Given the description of an element on the screen output the (x, y) to click on. 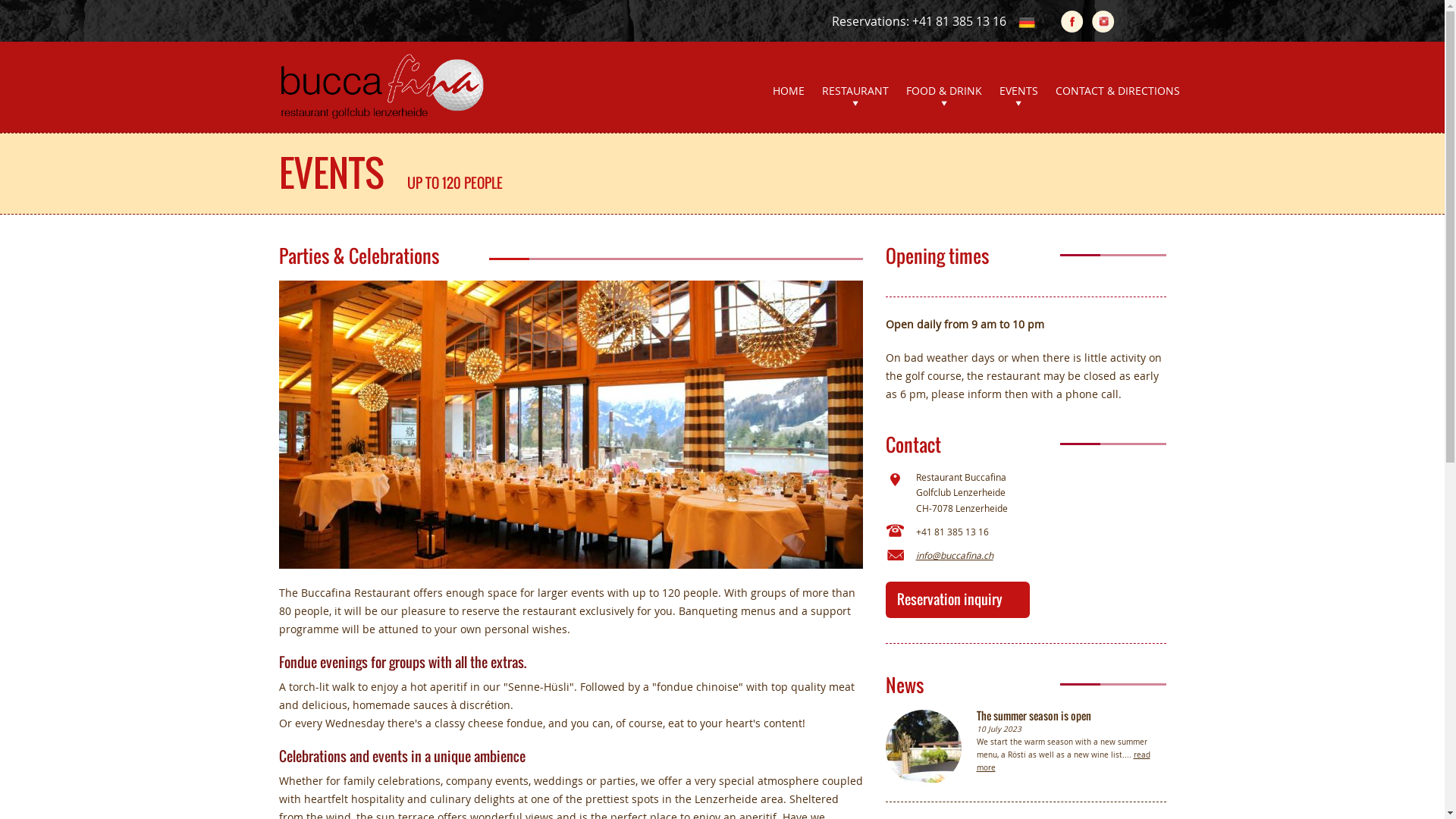
Bucca Fina Element type: hover (381, 86)
The summer season is open Element type: hover (930, 747)
CONTACT & DIRECTIONS Element type: text (1117, 98)
RESTAURANT Element type: text (855, 98)
Phone Element type: hover (894, 532)
read more Element type: text (1063, 760)
info@buccafina.ch Element type: text (1025, 554)
Deutsch Element type: hover (1026, 22)
Deutsch Element type: hover (1026, 20)
Address Element type: hover (894, 484)
HOME Element type: text (787, 98)
FOOD & DRINK Element type: text (943, 98)
Email Element type: hover (894, 556)
EVENTS Element type: text (1018, 98)
Reservation inquiry Element type: text (948, 598)
The summer season is open Element type: text (1033, 715)
Restaurant BuccaFina Lenzerheide Element type: hover (381, 79)
